Given the description of an element on the screen output the (x, y) to click on. 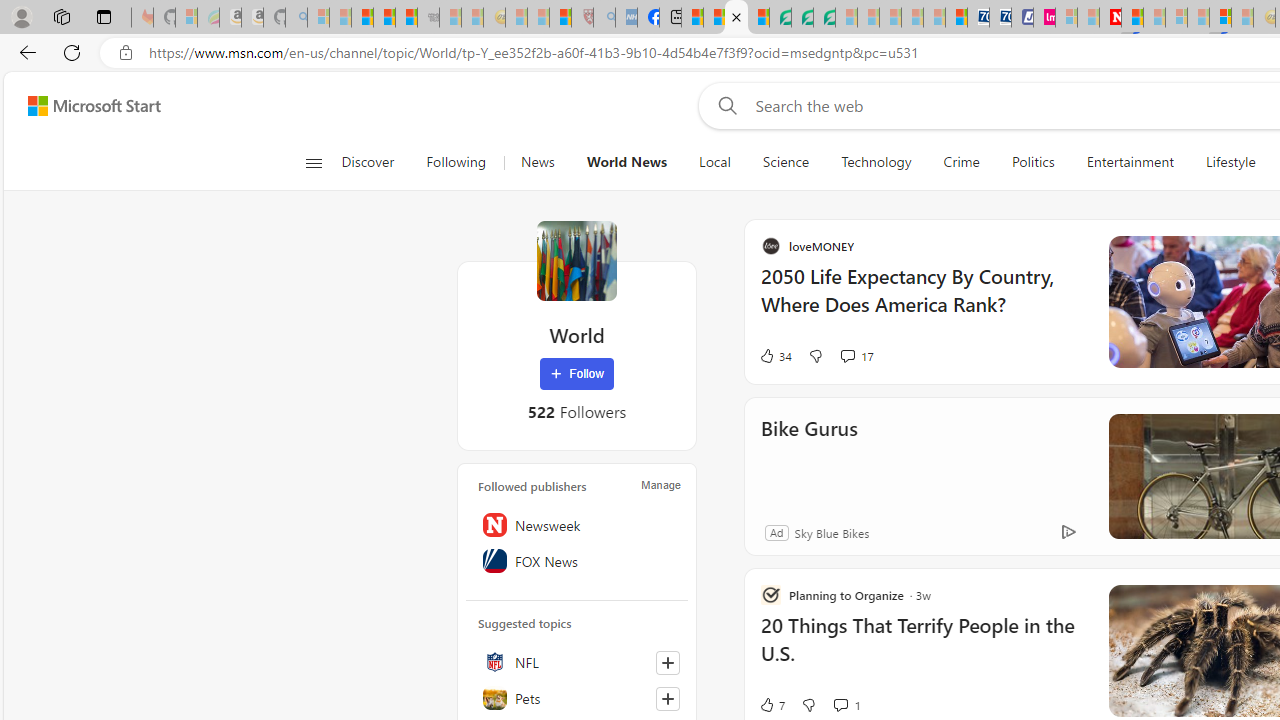
Latest Politics News & Archive | Newsweek.com (1110, 17)
Jobs - lastminute.com Investor Portal (1044, 17)
Local - MSN (560, 17)
View comments 17 Comment (1040, 355)
New Report Confirms 2023 Was Record Hot | Watch (406, 17)
